Given the description of an element on the screen output the (x, y) to click on. 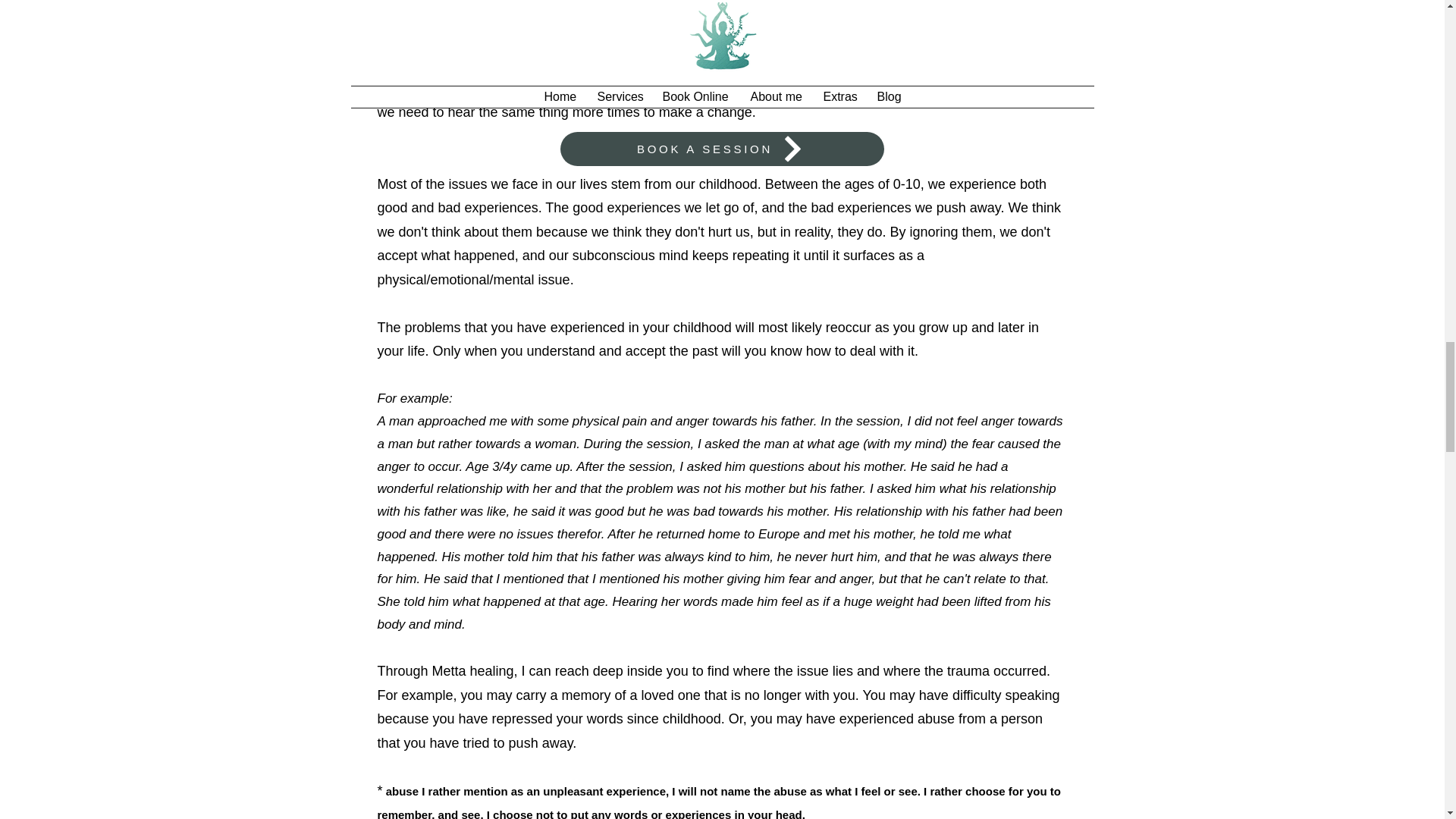
BOOK A SESSION (721, 148)
